Given the description of an element on the screen output the (x, y) to click on. 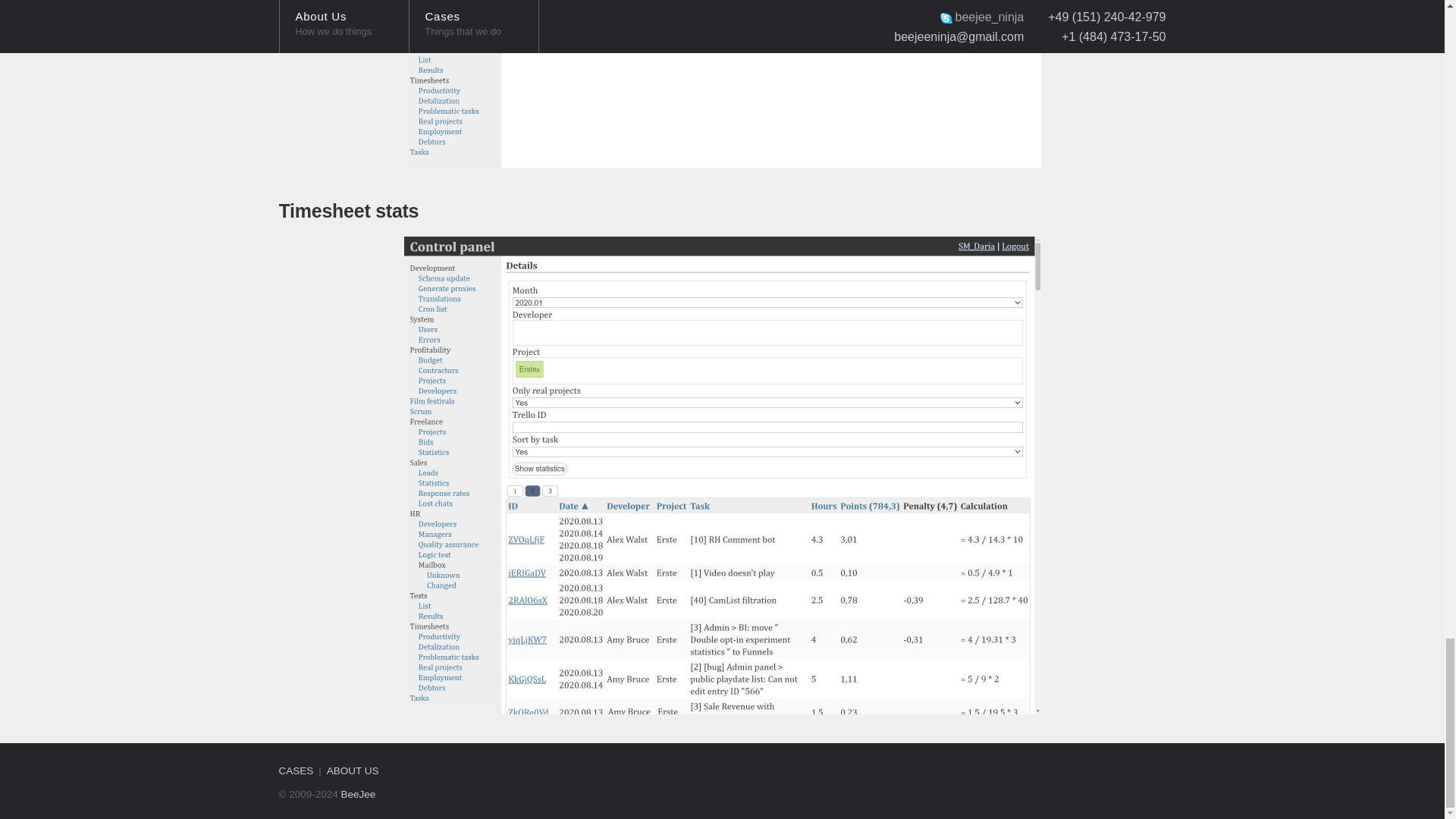
CASES (296, 770)
BeeJee (357, 794)
ABOUT US (352, 770)
